Given the description of an element on the screen output the (x, y) to click on. 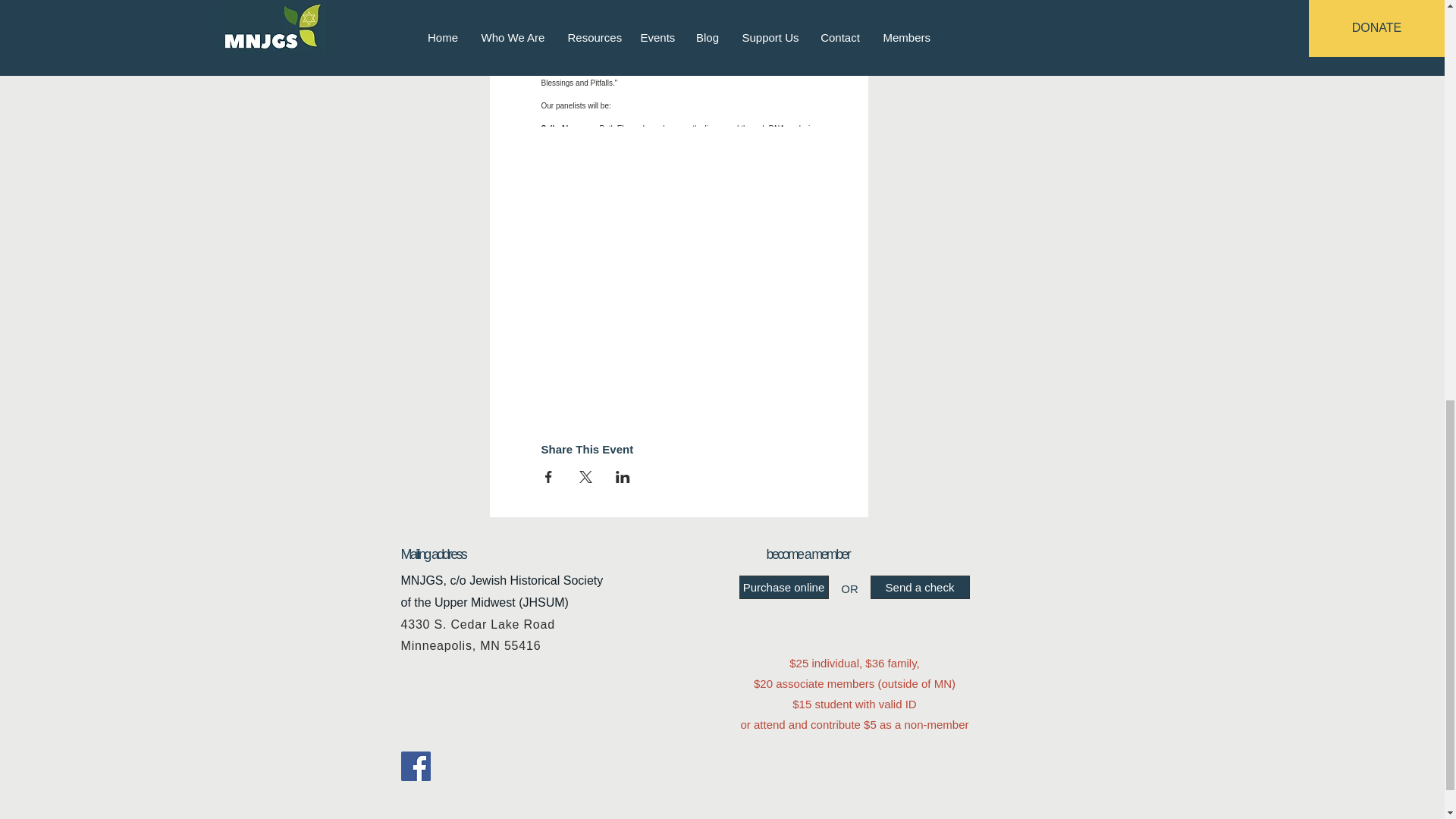
Send a check (919, 586)
Purchase online (783, 586)
Facebook Like (474, 765)
